Given the description of an element on the screen output the (x, y) to click on. 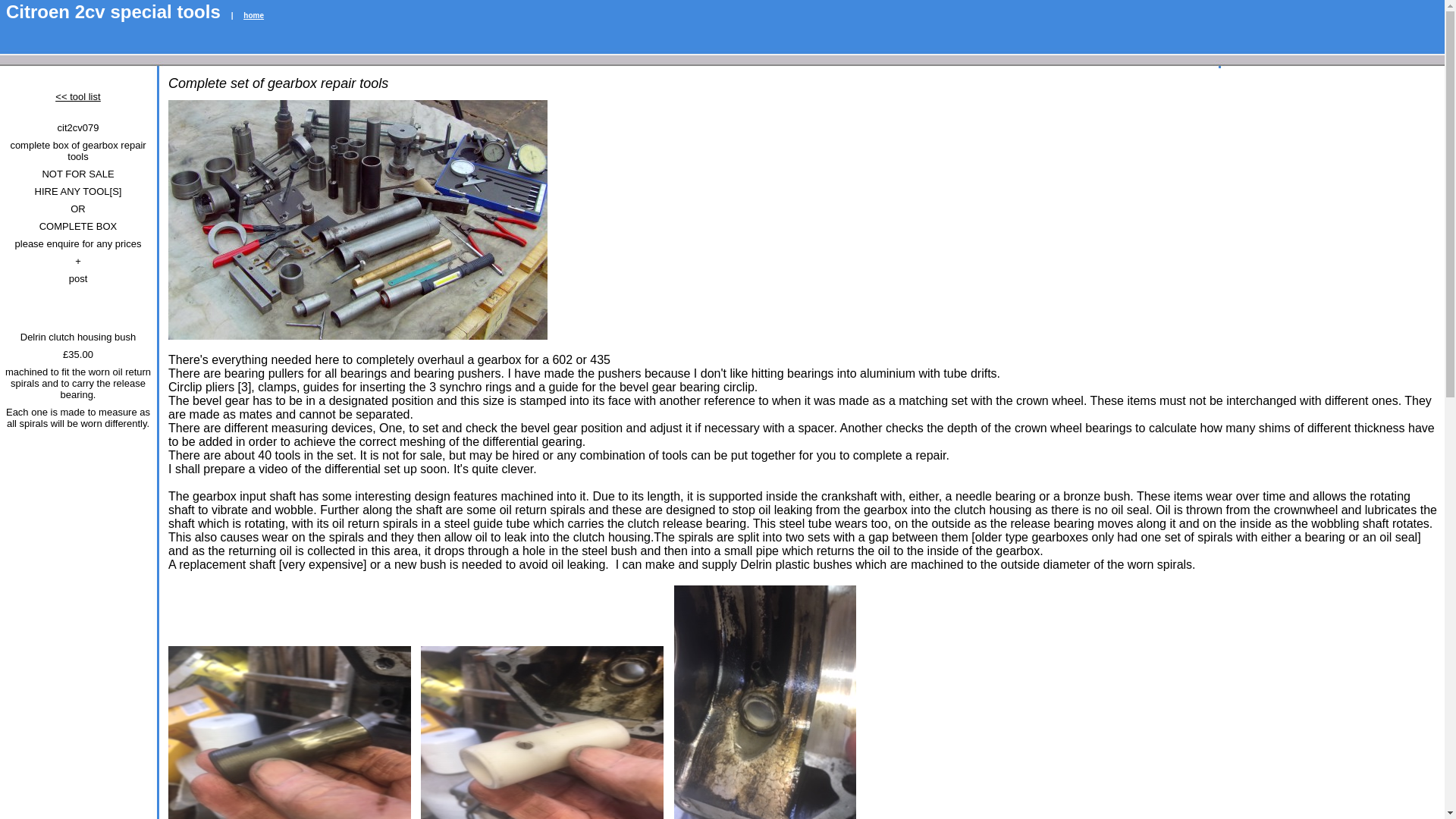
<< tool list Element type: text (77, 96)
home Element type: text (253, 15)
